Given the description of an element on the screen output the (x, y) to click on. 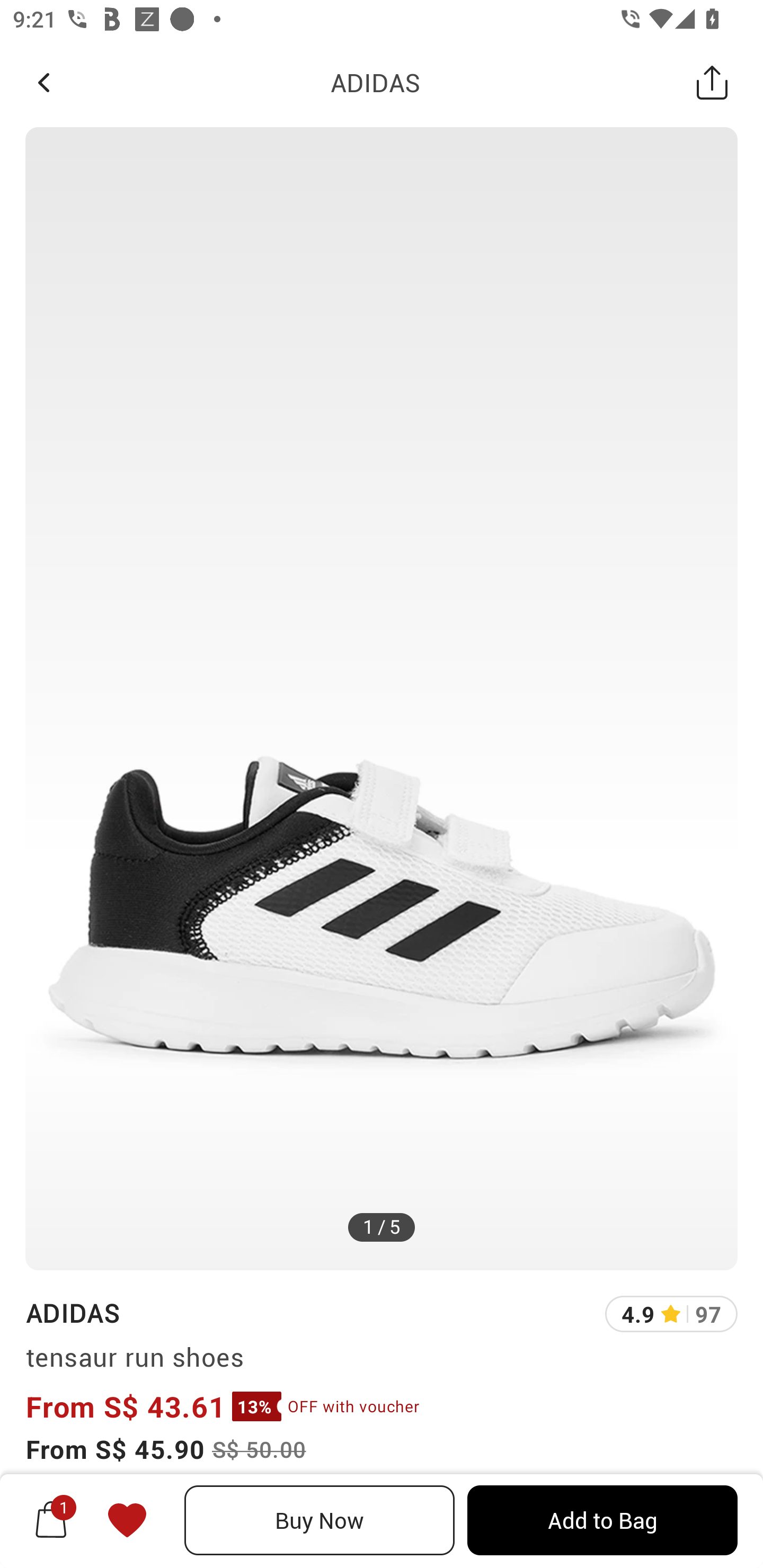
ADIDAS (375, 82)
Share this Product (711, 82)
ADIDAS (72, 1312)
4.9 97 (671, 1313)
Buy Now (319, 1519)
Add to Bag (601, 1519)
1 (50, 1520)
